Given the description of an element on the screen output the (x, y) to click on. 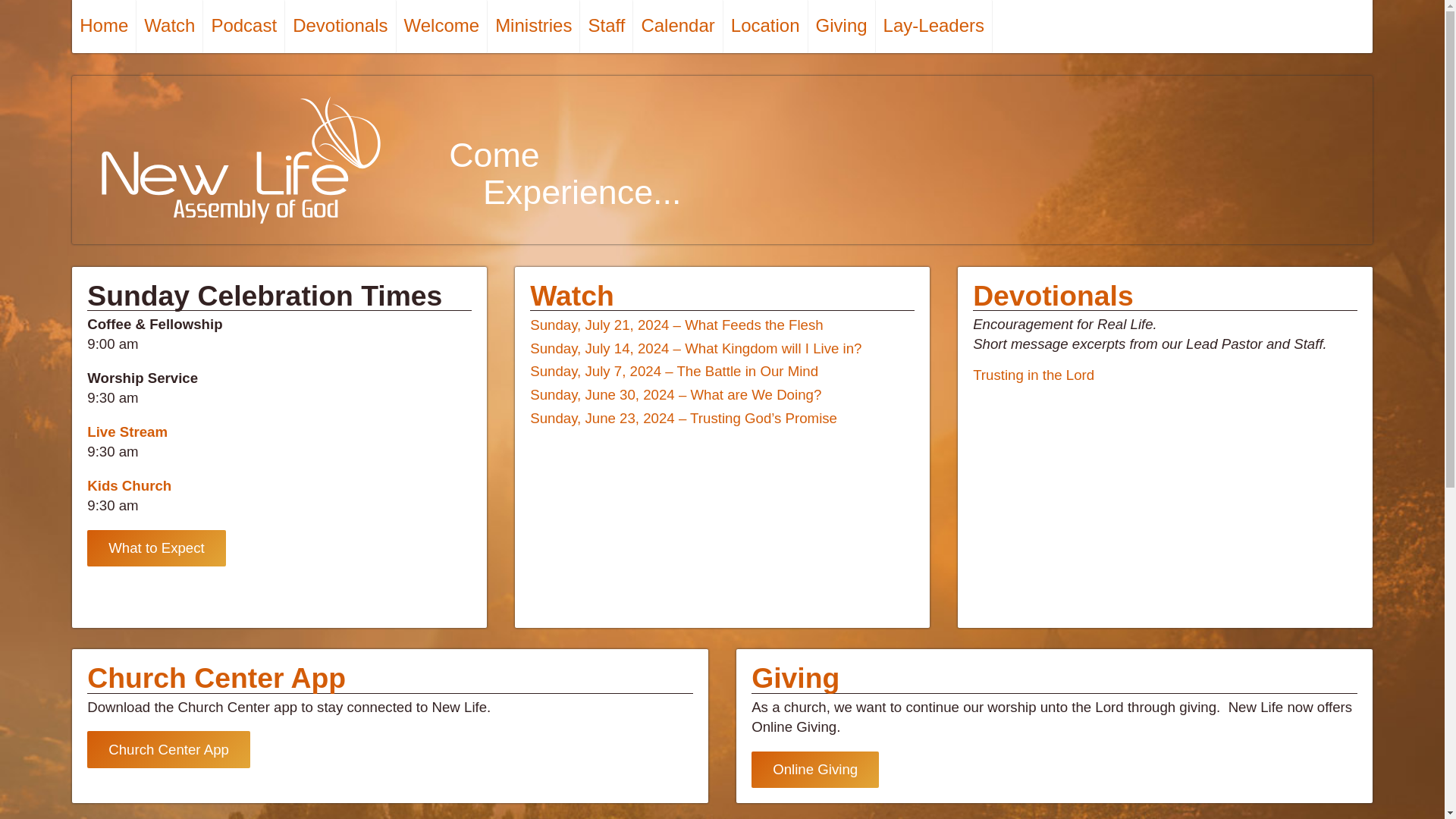
Giving (795, 677)
Church Center App (168, 749)
Live Stream (127, 431)
Giving (842, 26)
Online Giving (815, 769)
Podcast (244, 26)
Watch (571, 296)
Devotionals (340, 26)
Devotionals (1053, 296)
Home (103, 26)
Trusting in the Lord (1033, 374)
Staff (606, 26)
Lay-Leaders (934, 26)
Search (43, 16)
Kids Church (129, 485)
